Given the description of an element on the screen output the (x, y) to click on. 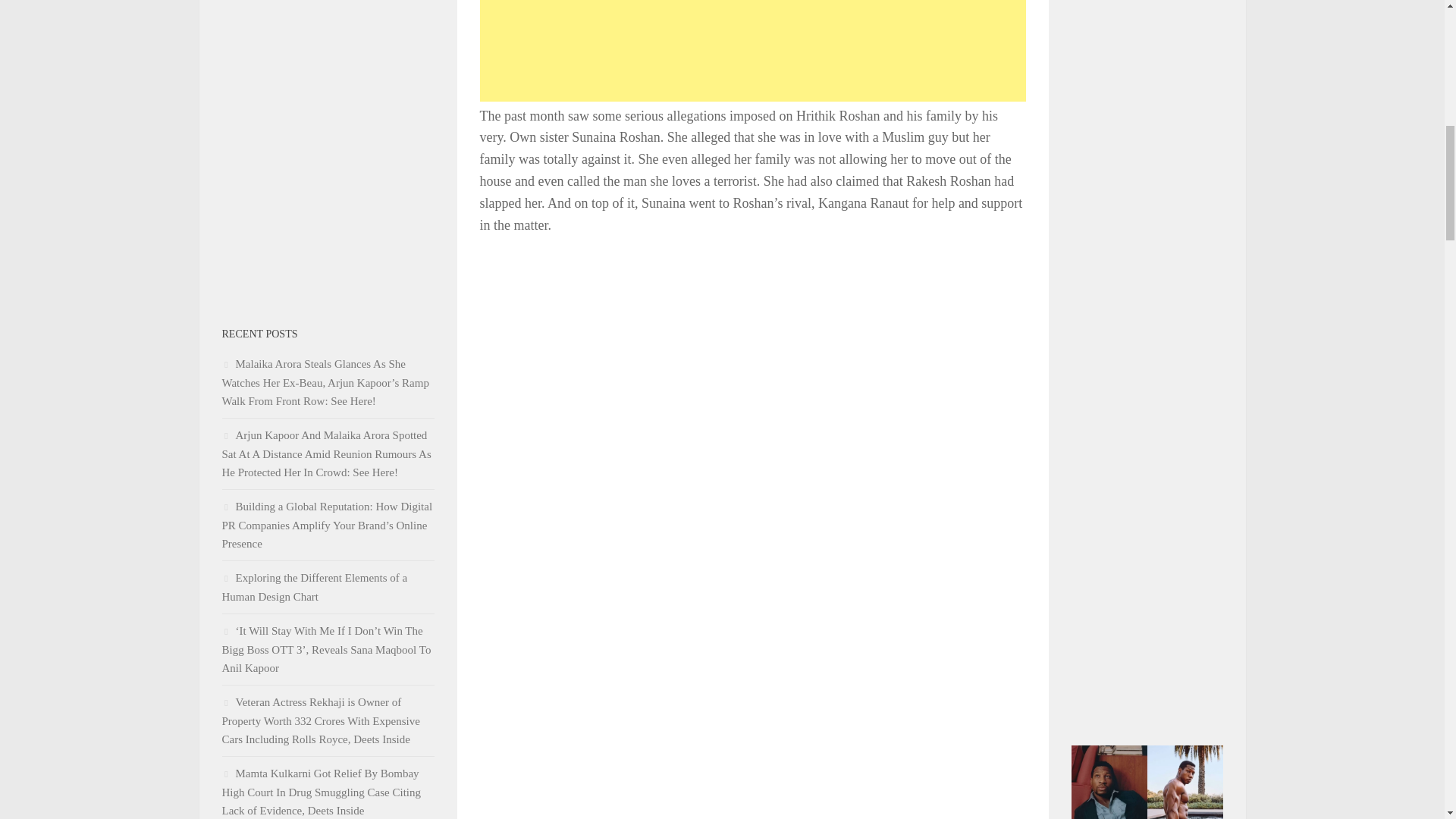
Advertisement (752, 50)
